Given the description of an element on the screen output the (x, y) to click on. 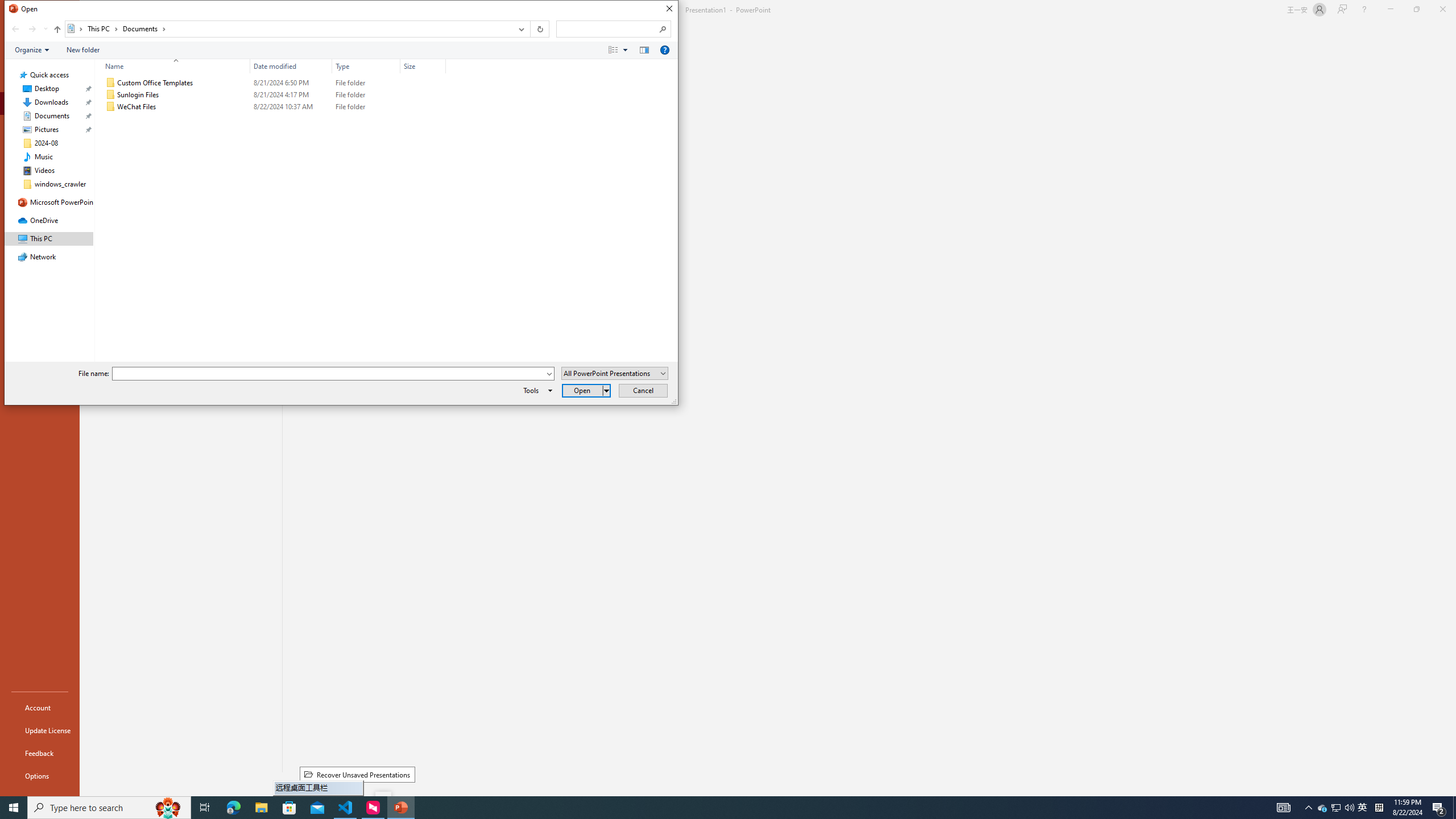
All locations (75, 28)
Date modified (290, 65)
Filter dropdown (440, 65)
&Help (664, 49)
Type (365, 106)
Date modified (290, 106)
Address: Documents (288, 28)
Documents (144, 28)
Address band toolbar (529, 28)
Up to "This PC" (Alt + Up Arrow) (57, 29)
Options (40, 775)
